Given the description of an element on the screen output the (x, y) to click on. 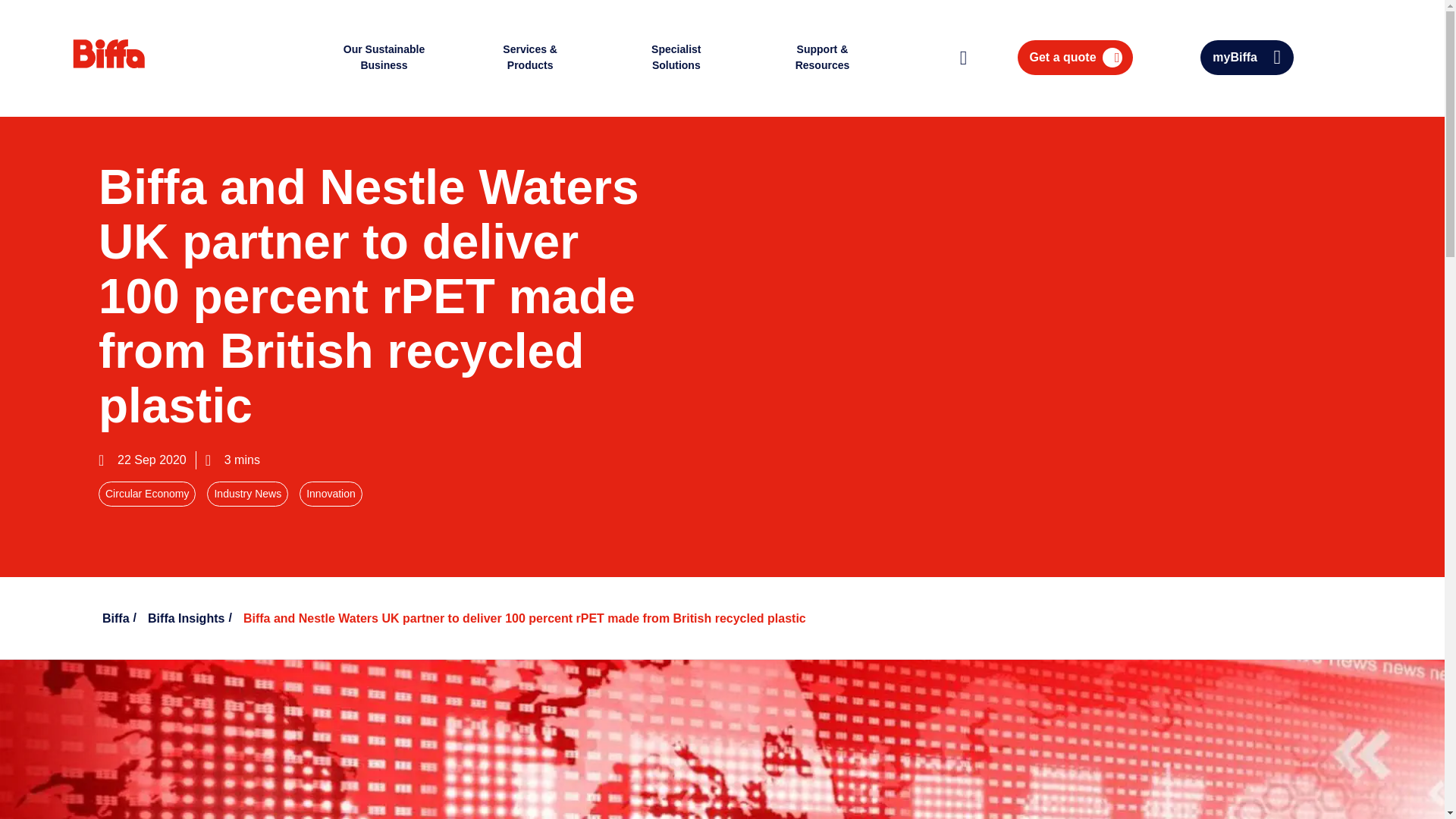
Biffa (141, 65)
Our Sustainable Business (384, 59)
